Given the description of an element on the screen output the (x, y) to click on. 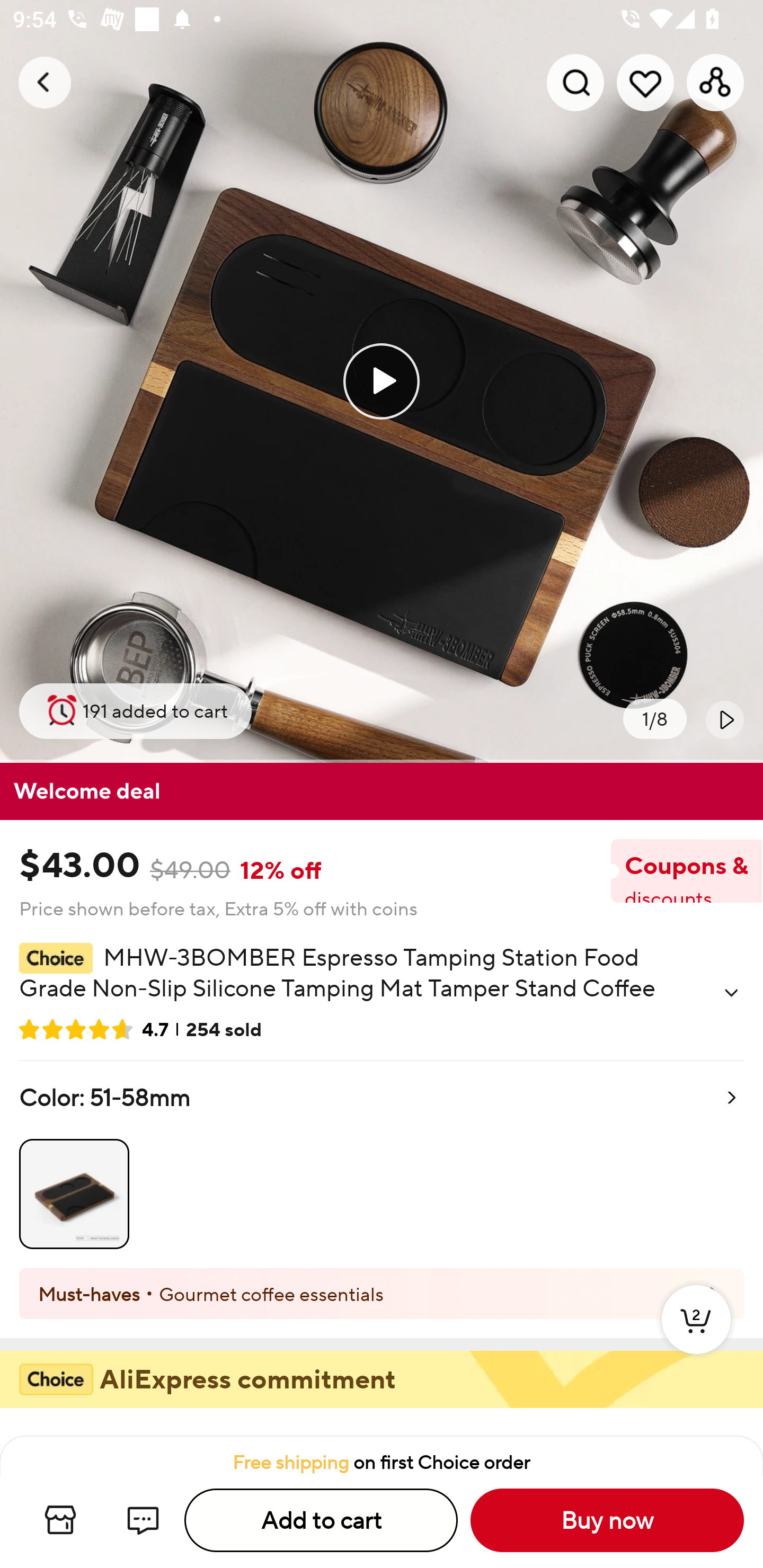
0.0 (381, 381)
Navigate up (44, 82)
 (724, 719)
 (730, 992)
Color: 51-58mm  (381, 1164)
2 (695, 1338)
Add to cart (320, 1520)
Buy now (606, 1520)
